Given the description of an element on the screen output the (x, y) to click on. 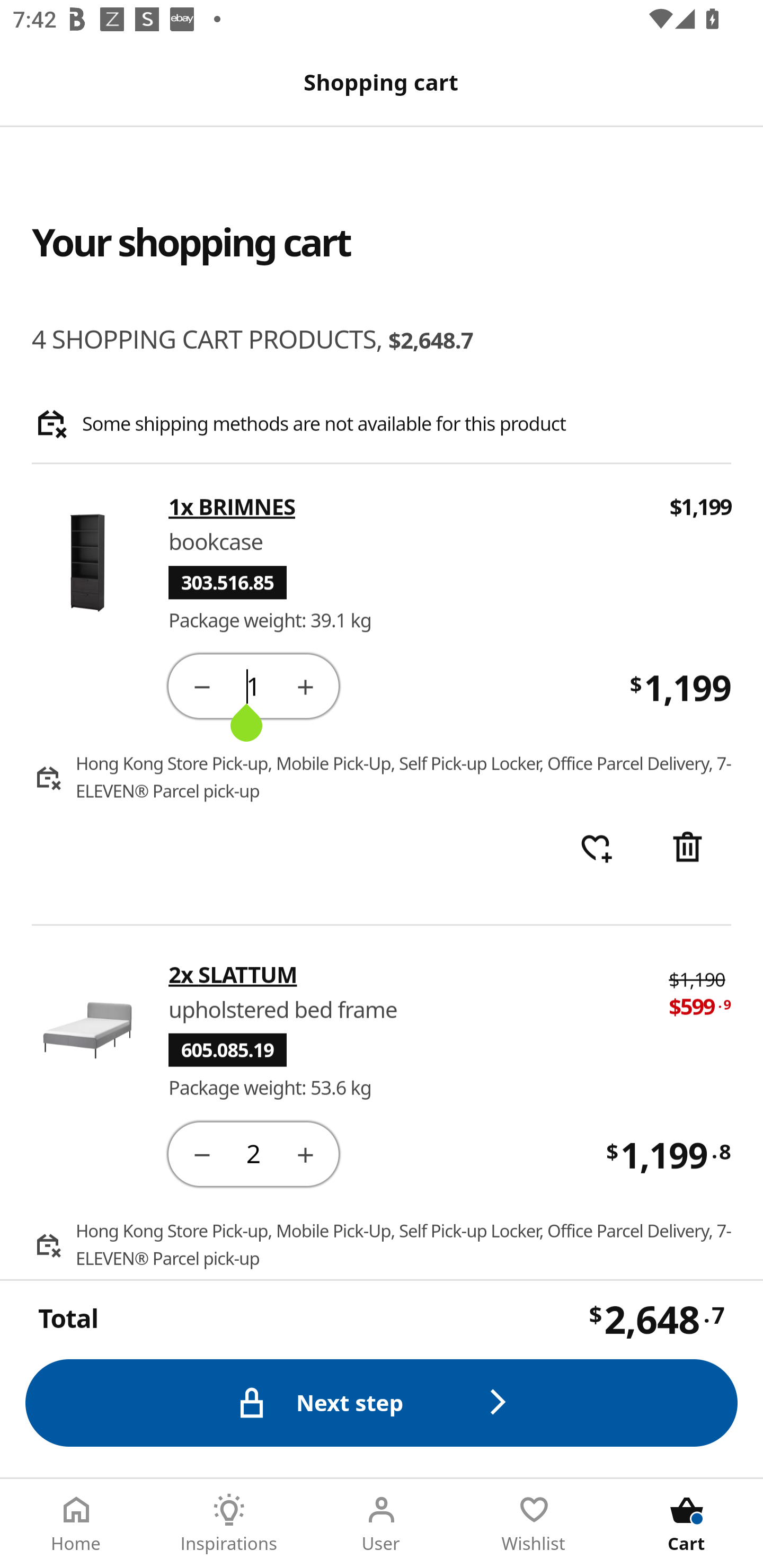
1x  BRIMNES 1x  BRIMNES (406, 507)
1 (253, 685)
 (201, 685)
 (305, 685)
  (595, 848)
 (686, 848)
2x  SLATTUM 2x  SLATTUM (405, 974)
2 (253, 1153)
 (201, 1153)
 (305, 1153)
Home
Tab 1 of 5 (76, 1522)
Inspirations
Tab 2 of 5 (228, 1522)
User
Tab 3 of 5 (381, 1522)
Wishlist
Tab 4 of 5 (533, 1522)
Cart
Tab 5 of 5 (686, 1522)
